Given the description of an element on the screen output the (x, y) to click on. 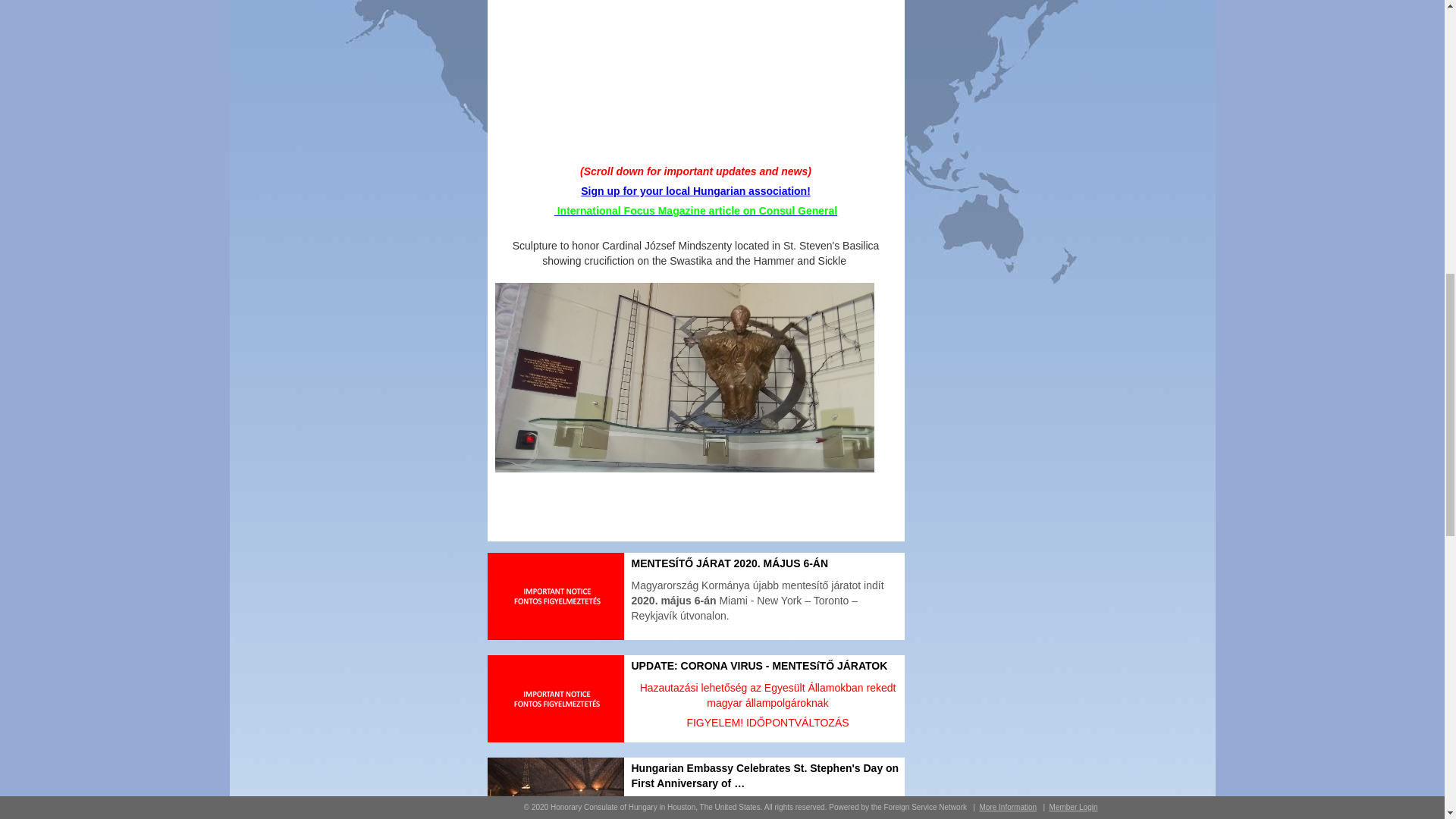
Sign up for your local Hungarian association! (695, 191)
 International Focus Magazine article on Consul General (695, 210)
